Given the description of an element on the screen output the (x, y) to click on. 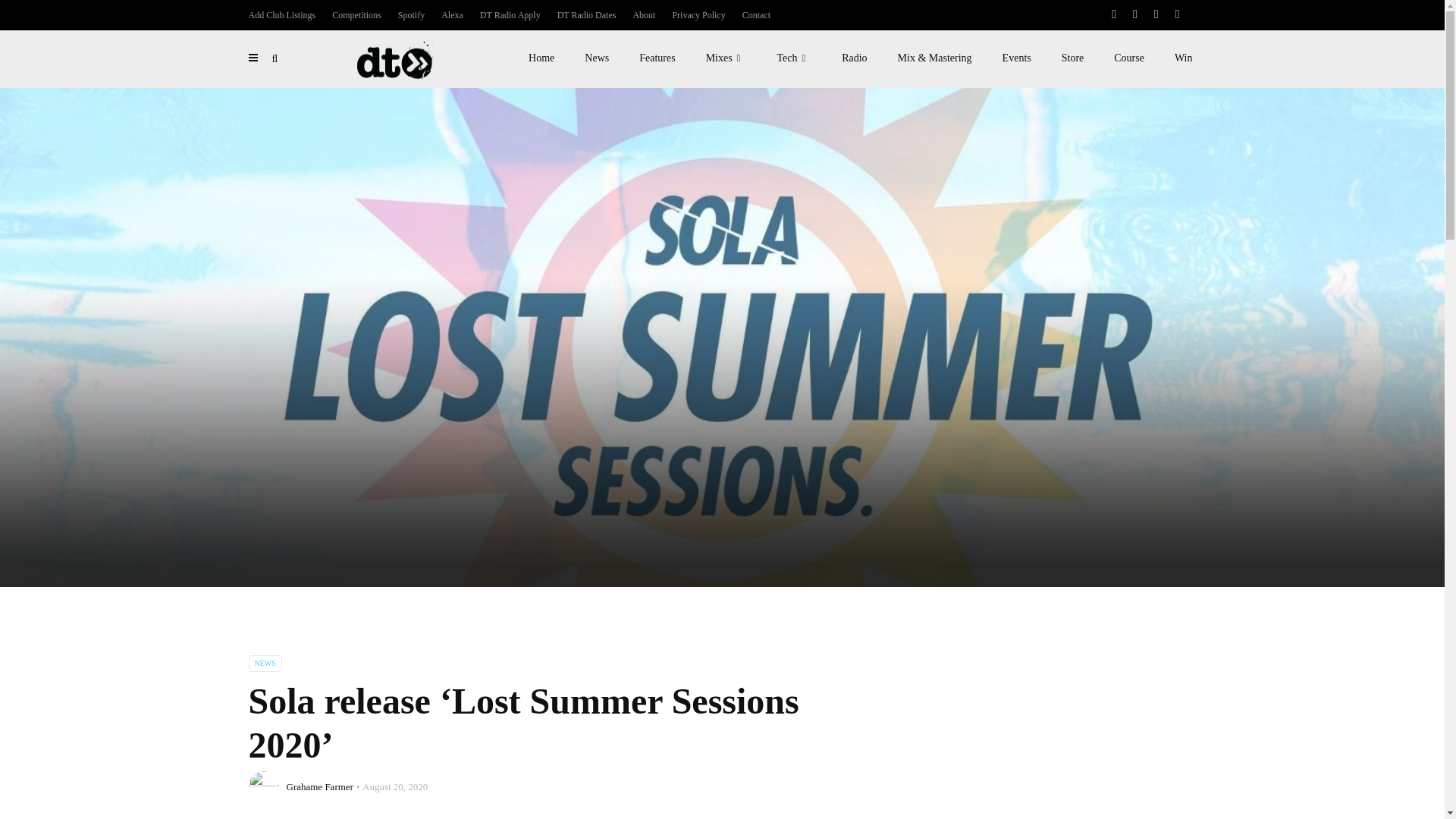
Tech (794, 57)
Mixes (725, 57)
Radio (854, 57)
Home (541, 57)
Features (657, 57)
Store (1072, 57)
Course (1128, 57)
Events (1016, 57)
News (596, 57)
